Given the description of an element on the screen output the (x, y) to click on. 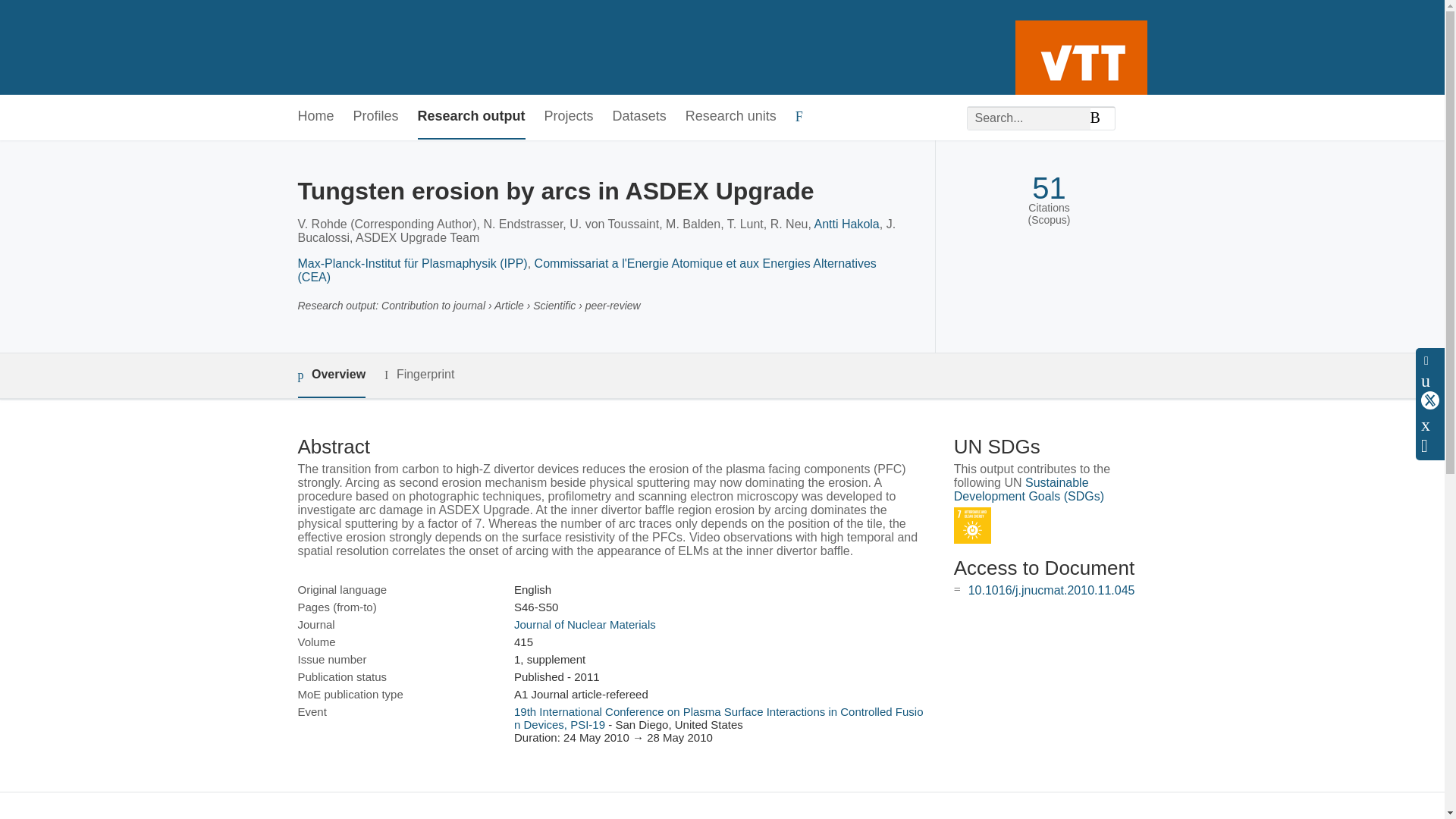
Journal of Nuclear Materials (584, 624)
SDG 7 - Affordable and Clean Energy (972, 525)
Home (315, 117)
Datasets (639, 117)
Research units (730, 117)
Fingerprint (419, 374)
Antti Hakola (846, 223)
Projects (569, 117)
Profiles (375, 117)
VTT's Research Information Portal Home (322, 47)
Research output (471, 117)
Overview (331, 375)
51 (1048, 188)
